Given the description of an element on the screen output the (x, y) to click on. 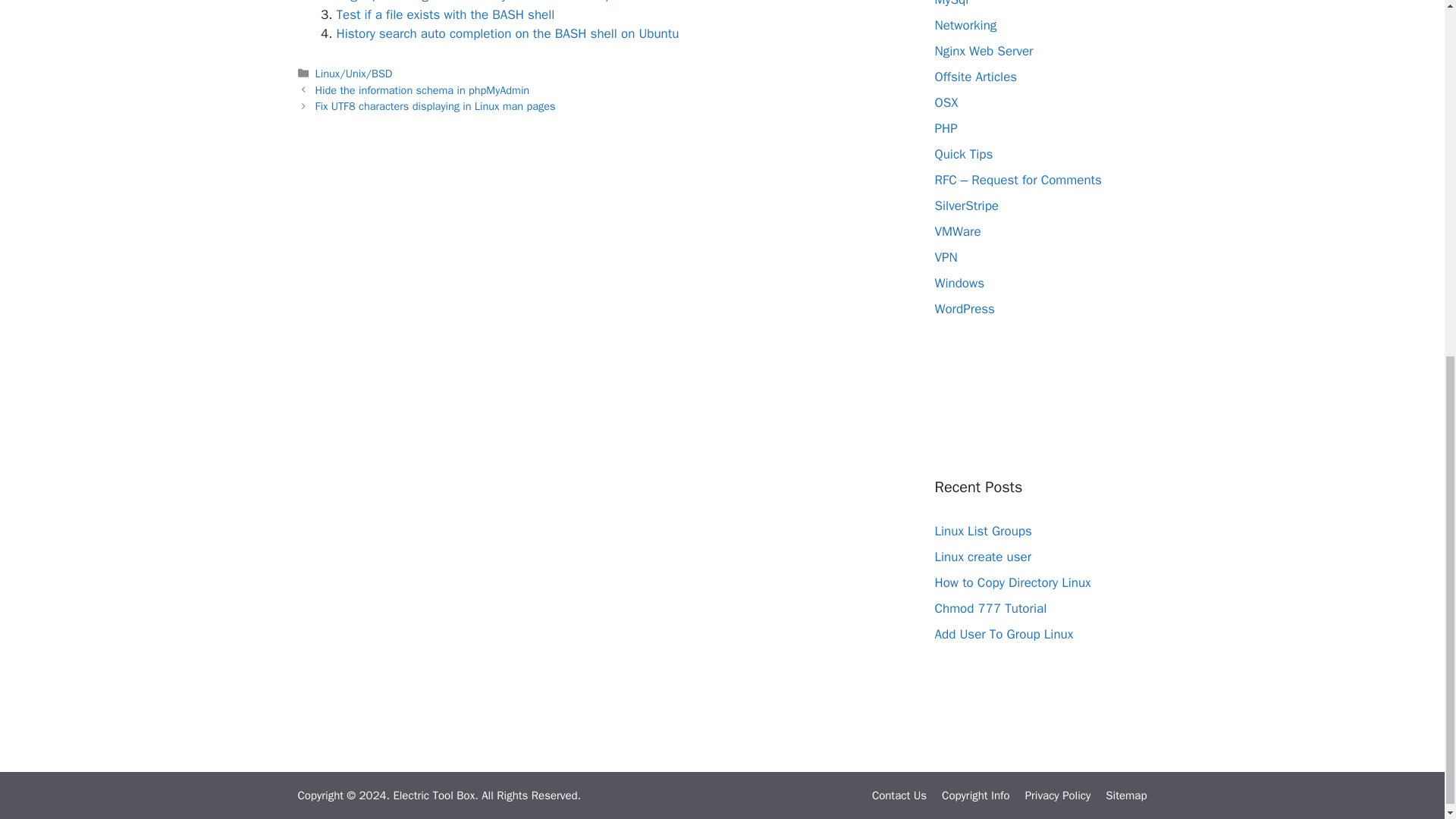
PHP (945, 128)
MySql (951, 3)
Test if a file exists with the BASH shell (445, 14)
Networking (964, 25)
VMWare (956, 231)
Quick Tips (963, 154)
Fix UTF8 characters displaying in Linux man pages (435, 106)
Hide the information schema in phpMyAdmin (422, 90)
